Given the description of an element on the screen output the (x, y) to click on. 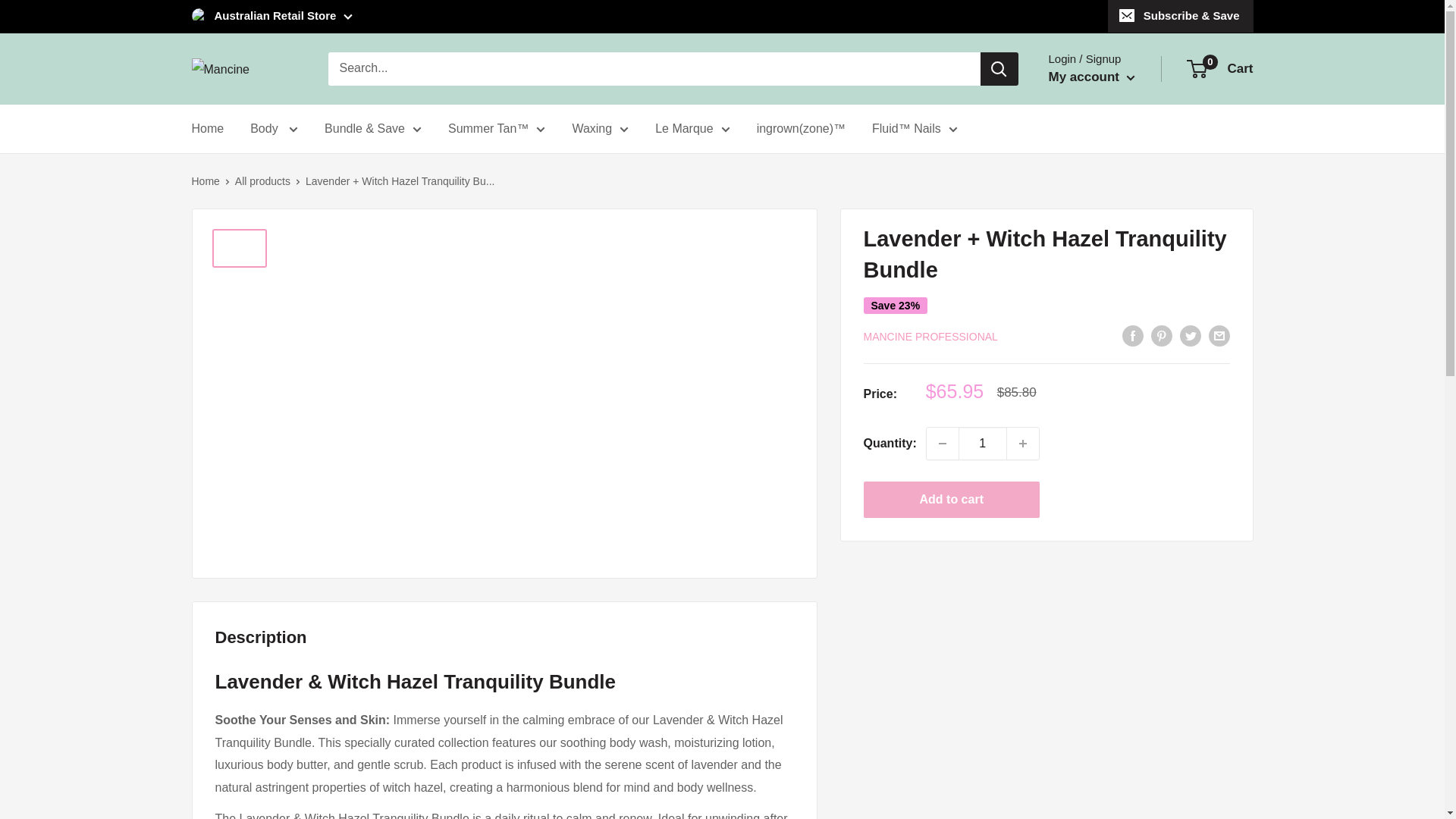
Increase quantity by 1 (1023, 443)
Decrease quantity by 1 (942, 443)
1 (982, 443)
